Given the description of an element on the screen output the (x, y) to click on. 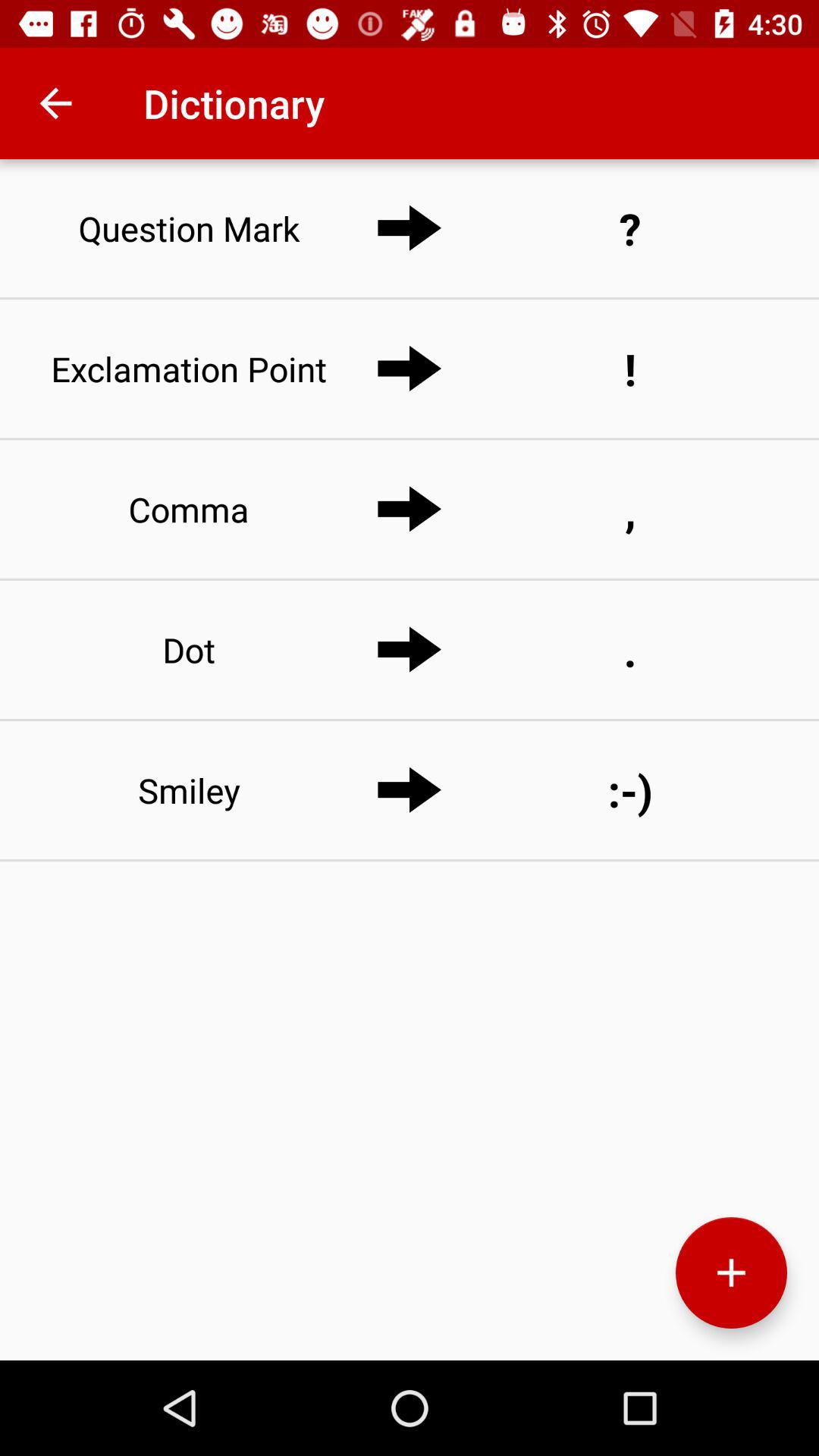
turn on the item next to the dictionary (55, 103)
